Given the description of an element on the screen output the (x, y) to click on. 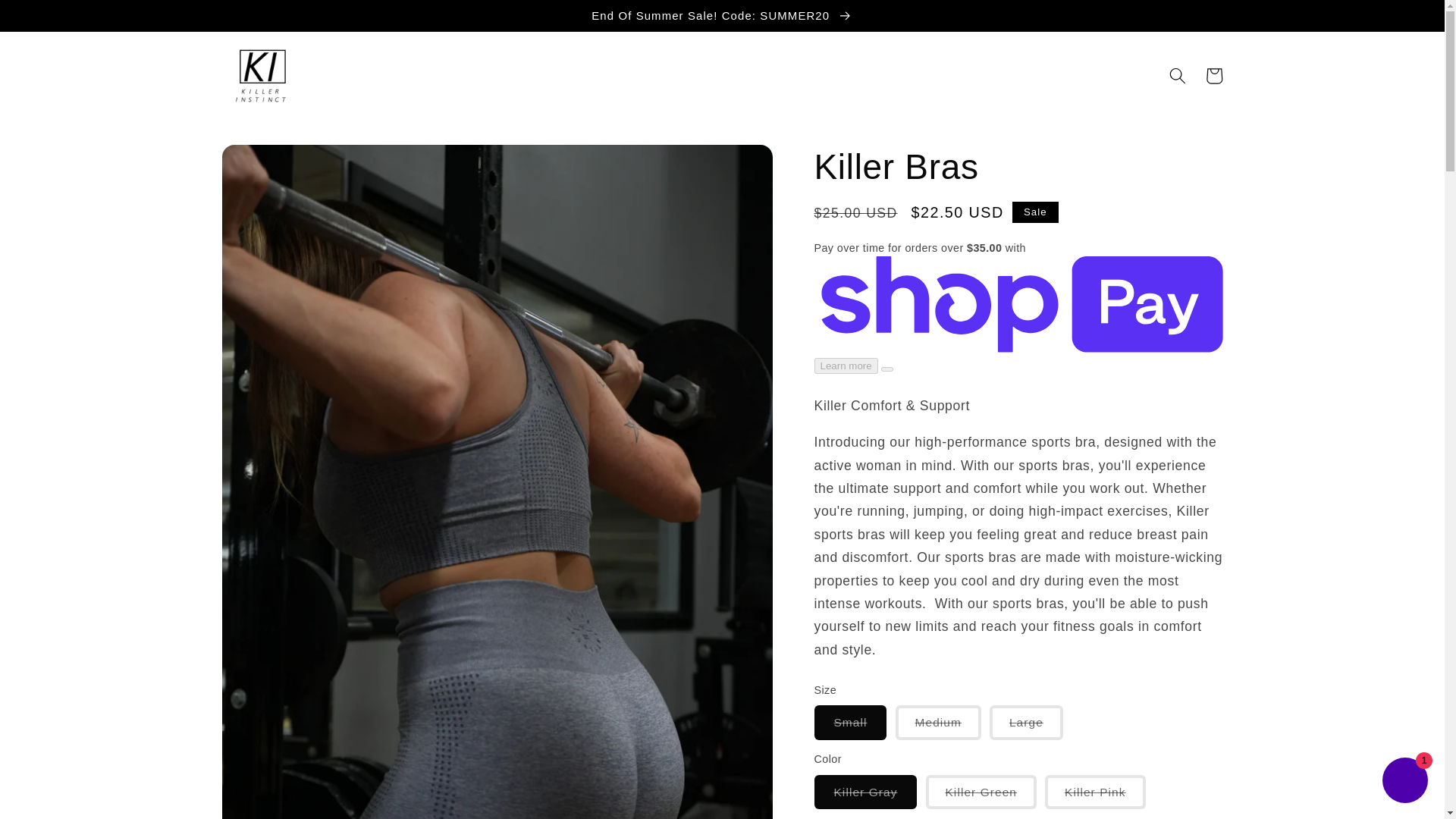
Cart (1213, 75)
Skip to product information (272, 163)
Shopify online store chat (1404, 781)
Skip to content (50, 19)
